Given the description of an element on the screen output the (x, y) to click on. 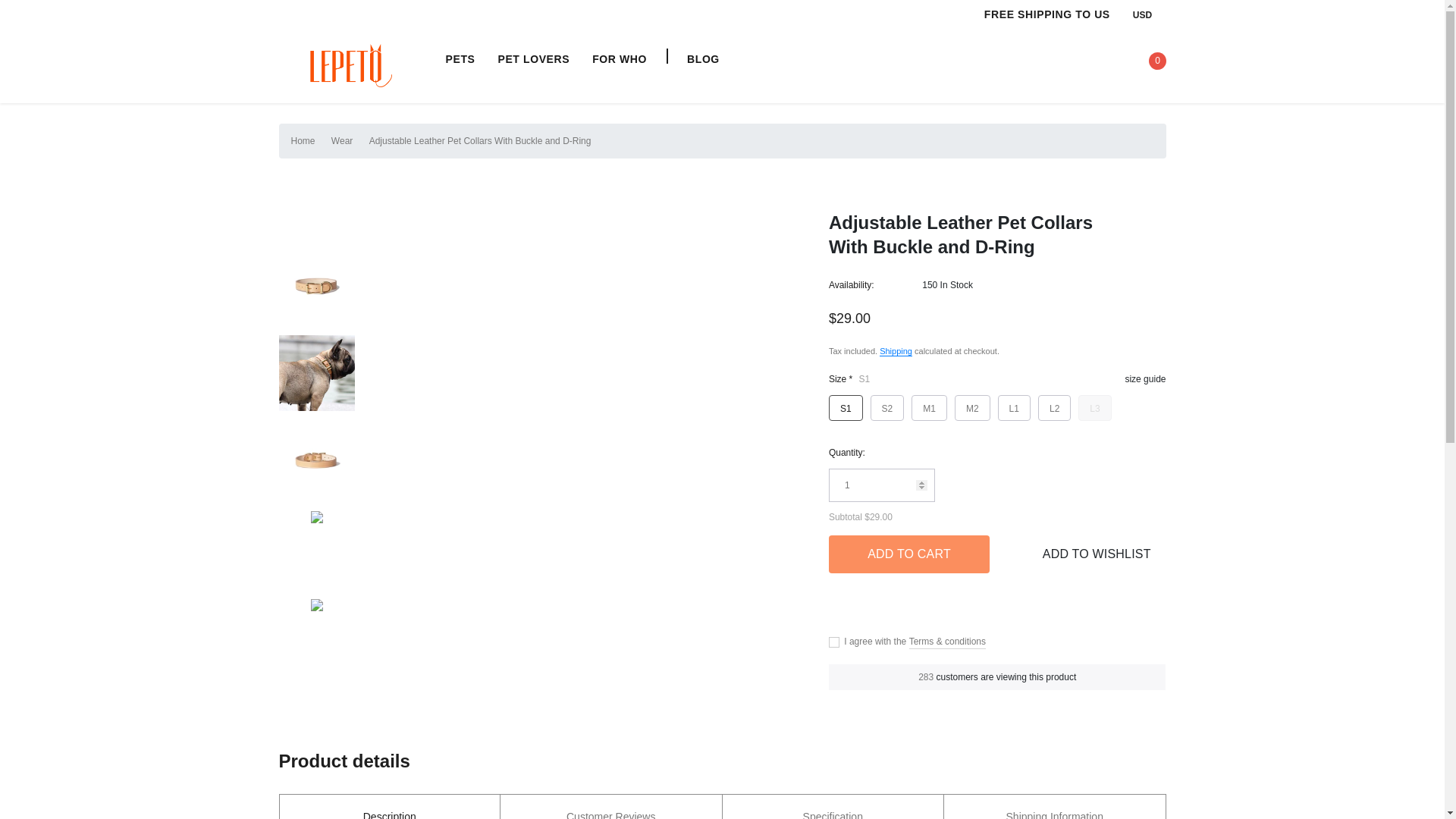
0 (1152, 64)
L1 (1013, 407)
FOR WHO (619, 59)
PETS (460, 59)
Currency (1149, 14)
BLOG (703, 59)
PET LOVERS (533, 59)
M2 (972, 407)
USD (1149, 14)
S1 (845, 407)
